Given the description of an element on the screen output the (x, y) to click on. 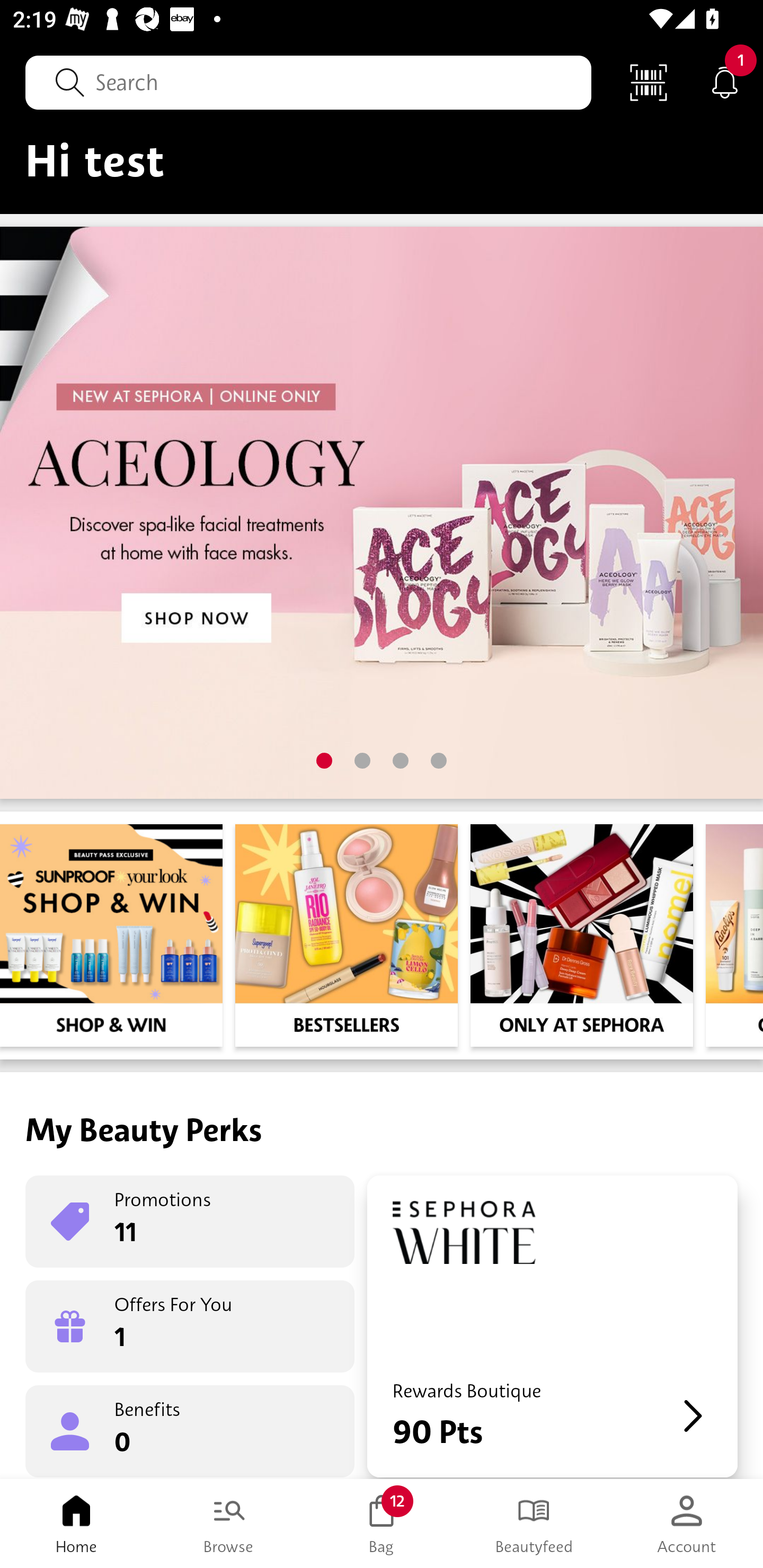
Scan Code (648, 81)
Notifications (724, 81)
Search (308, 81)
Promotions 11 (189, 1221)
Rewards Boutique 90 Pts (552, 1326)
Offers For You 1 (189, 1326)
Benefits 0 (189, 1430)
Browse (228, 1523)
Bag 12 Bag (381, 1523)
Beautyfeed (533, 1523)
Account (686, 1523)
